Given the description of an element on the screen output the (x, y) to click on. 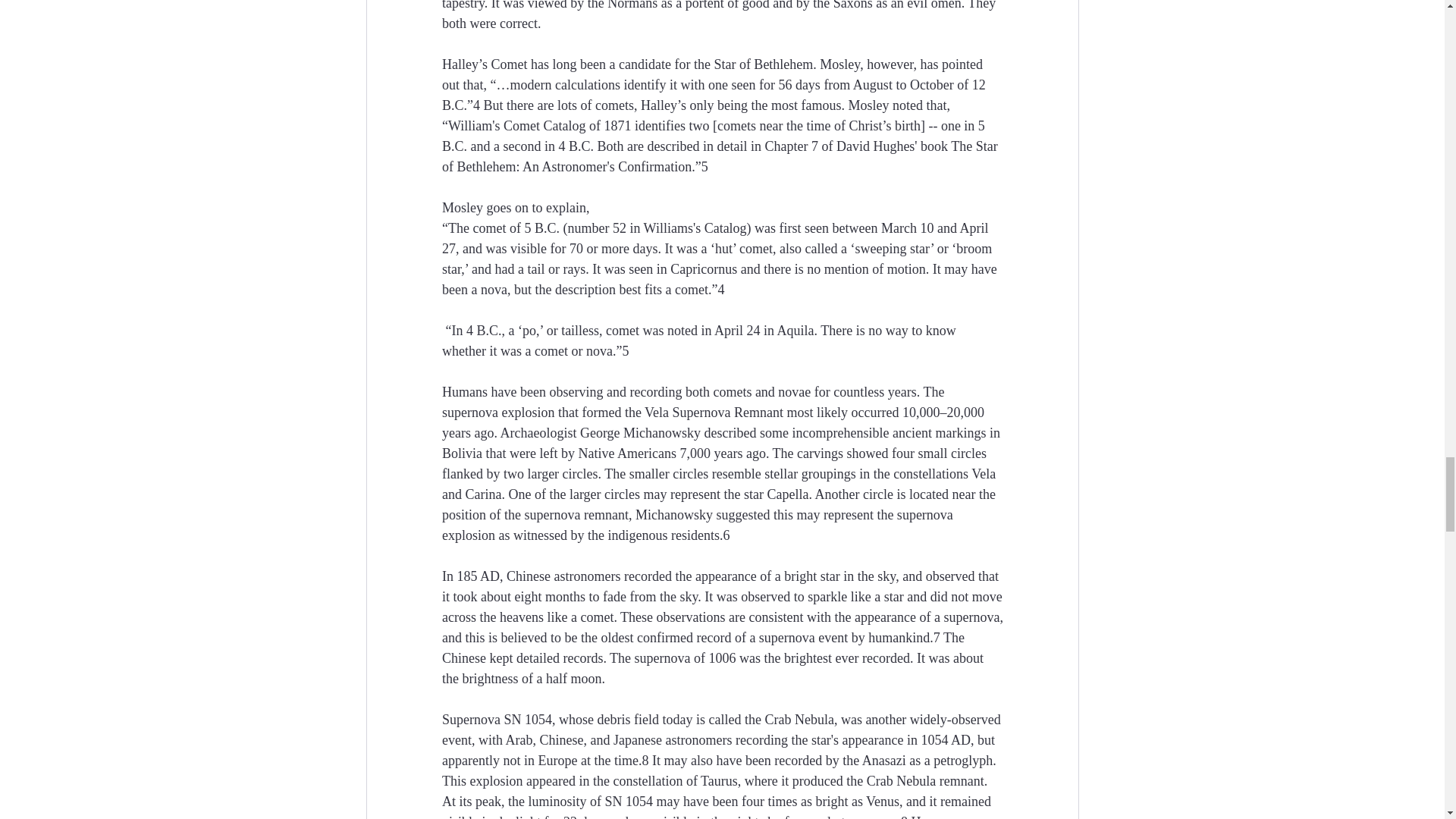
SN 1054 (527, 719)
Chinese astronomers (563, 575)
Carina (482, 494)
Arab (518, 739)
Taurus (719, 780)
Anasazi (883, 760)
Venus (882, 801)
Crab Nebula (900, 780)
Vela (983, 473)
petroglyph (962, 760)
Vela Supernova Remnant (714, 412)
comet (595, 616)
Bolivia (461, 453)
Native Americans (626, 453)
George Michanowsky (639, 432)
